Given the description of an element on the screen output the (x, y) to click on. 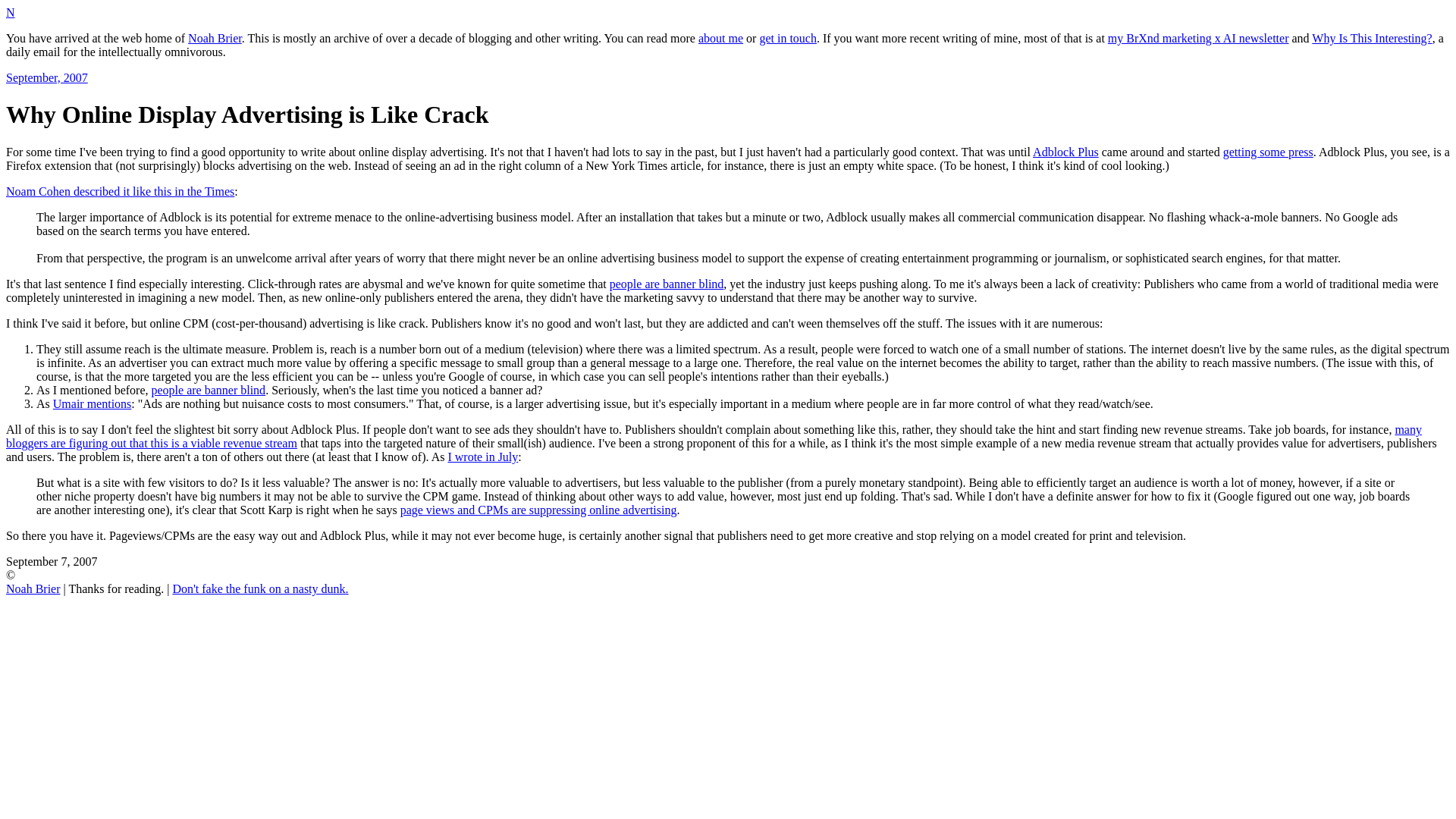
getting some press (1268, 151)
people are banner blind (208, 390)
get in touch (787, 38)
Why Is This Interesting? (1371, 38)
about me (720, 38)
Noah Brier (214, 38)
I wrote in July (482, 456)
Umair mentions (92, 403)
page views and CPMs are suppressing online advertising (538, 509)
my BrXnd marketing x AI newsletter (1198, 38)
Noam Cohen described it like this in the Times (119, 191)
people are banner blind (666, 283)
Adblock Plus (1065, 151)
September, 2007 (46, 77)
